Given the description of an element on the screen output the (x, y) to click on. 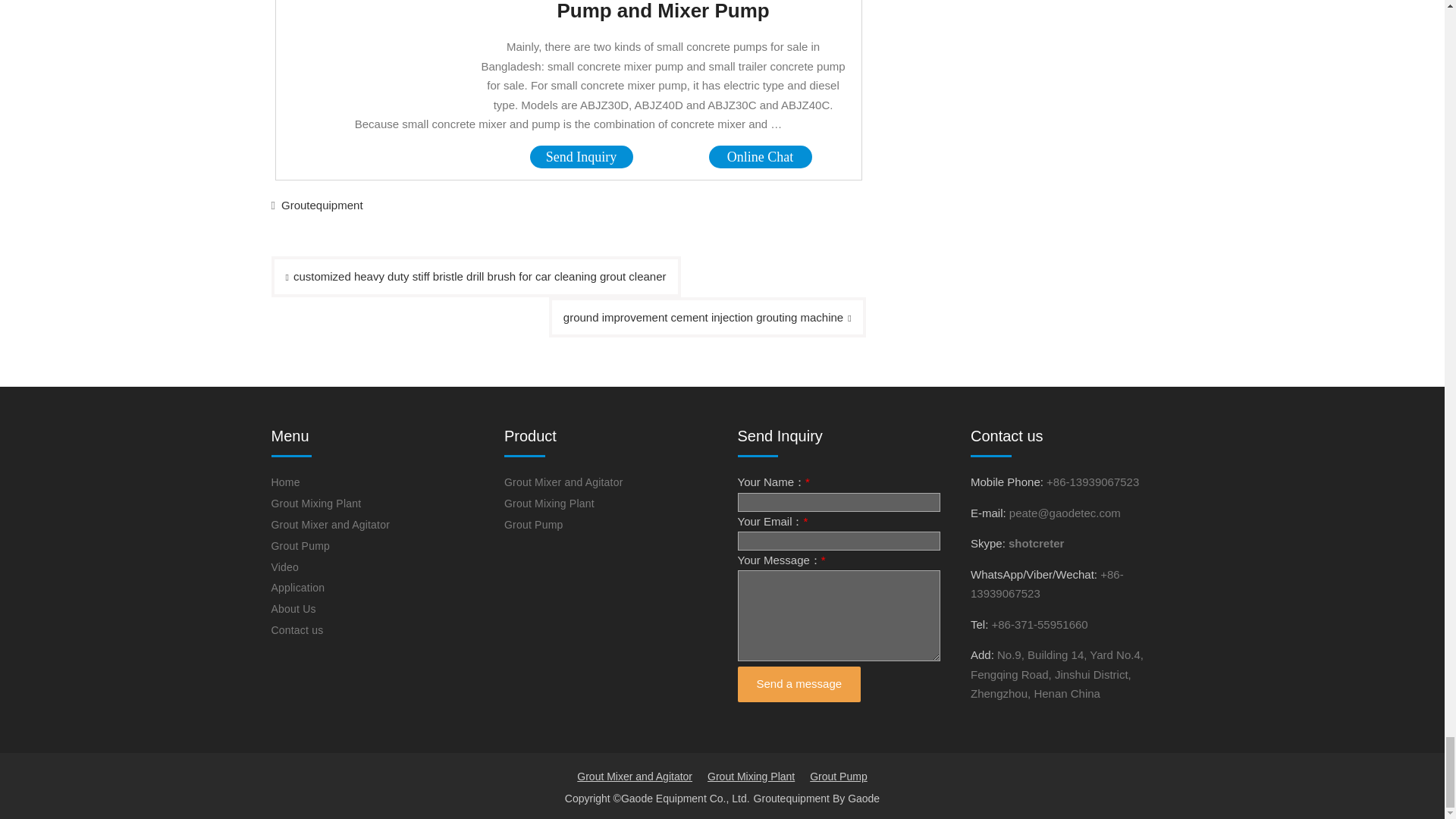
Send a message (798, 683)
